Given the description of an element on the screen output the (x, y) to click on. 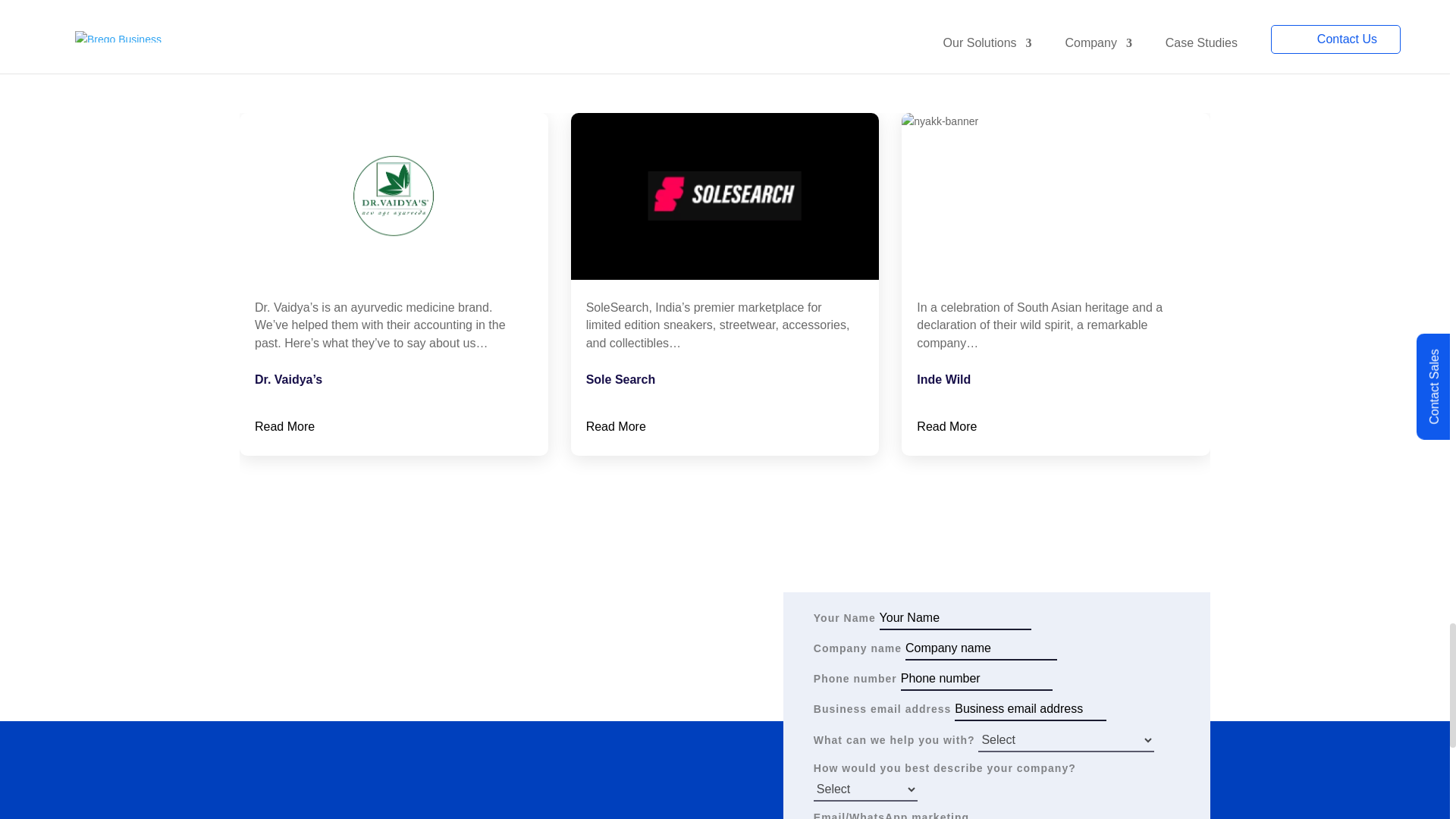
nyakk-banner (394, 196)
nyakk-banner (724, 196)
nyakk-banner (1055, 196)
Read More (946, 426)
Read More (616, 426)
Read More (284, 426)
